Given the description of an element on the screen output the (x, y) to click on. 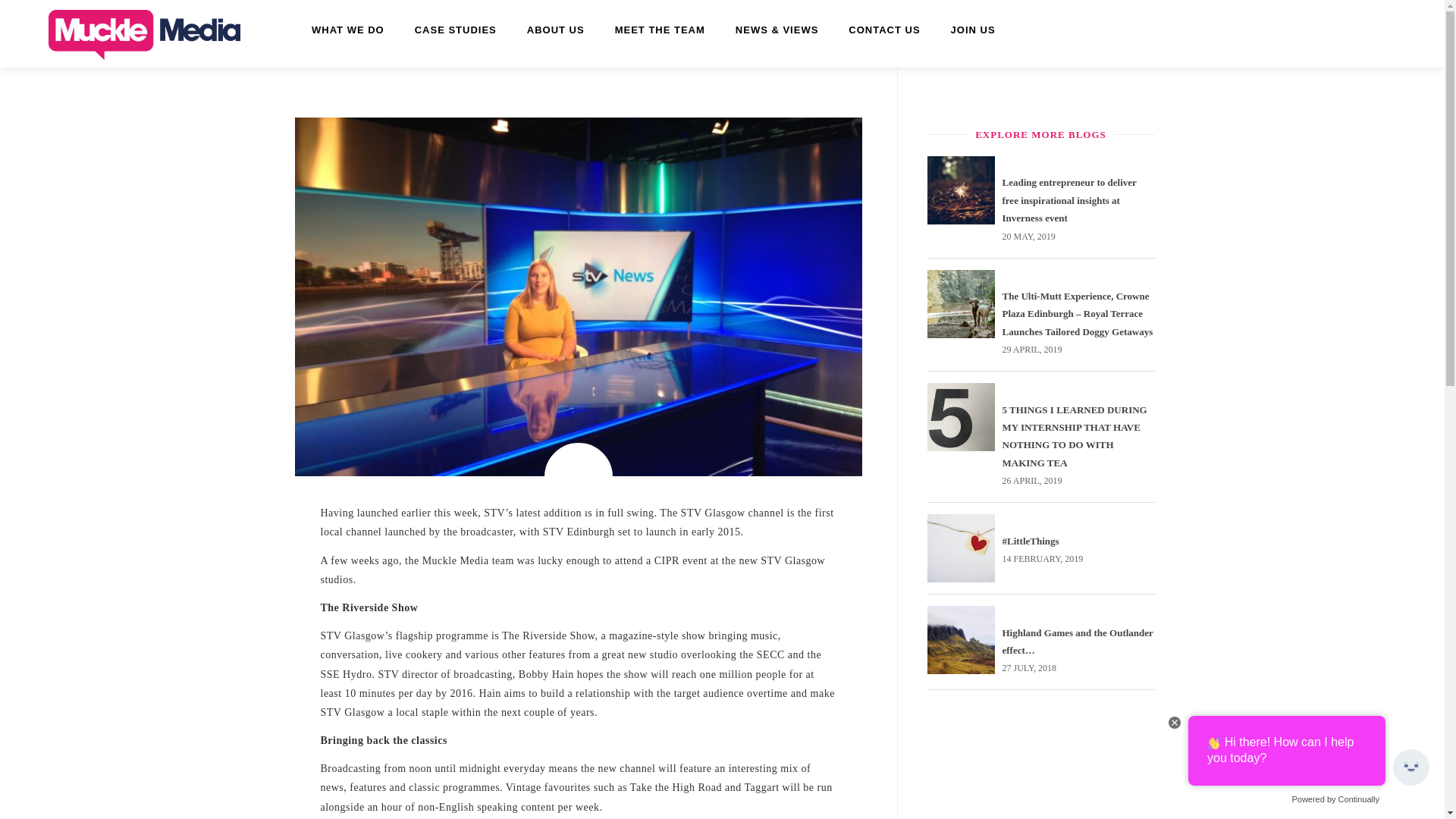
ABOUT US (555, 30)
MEET THE TEAM (659, 30)
CASE STUDIES (455, 30)
CONTACT US (883, 30)
JOIN US (973, 30)
WHAT WE DO (347, 30)
